Given the description of an element on the screen output the (x, y) to click on. 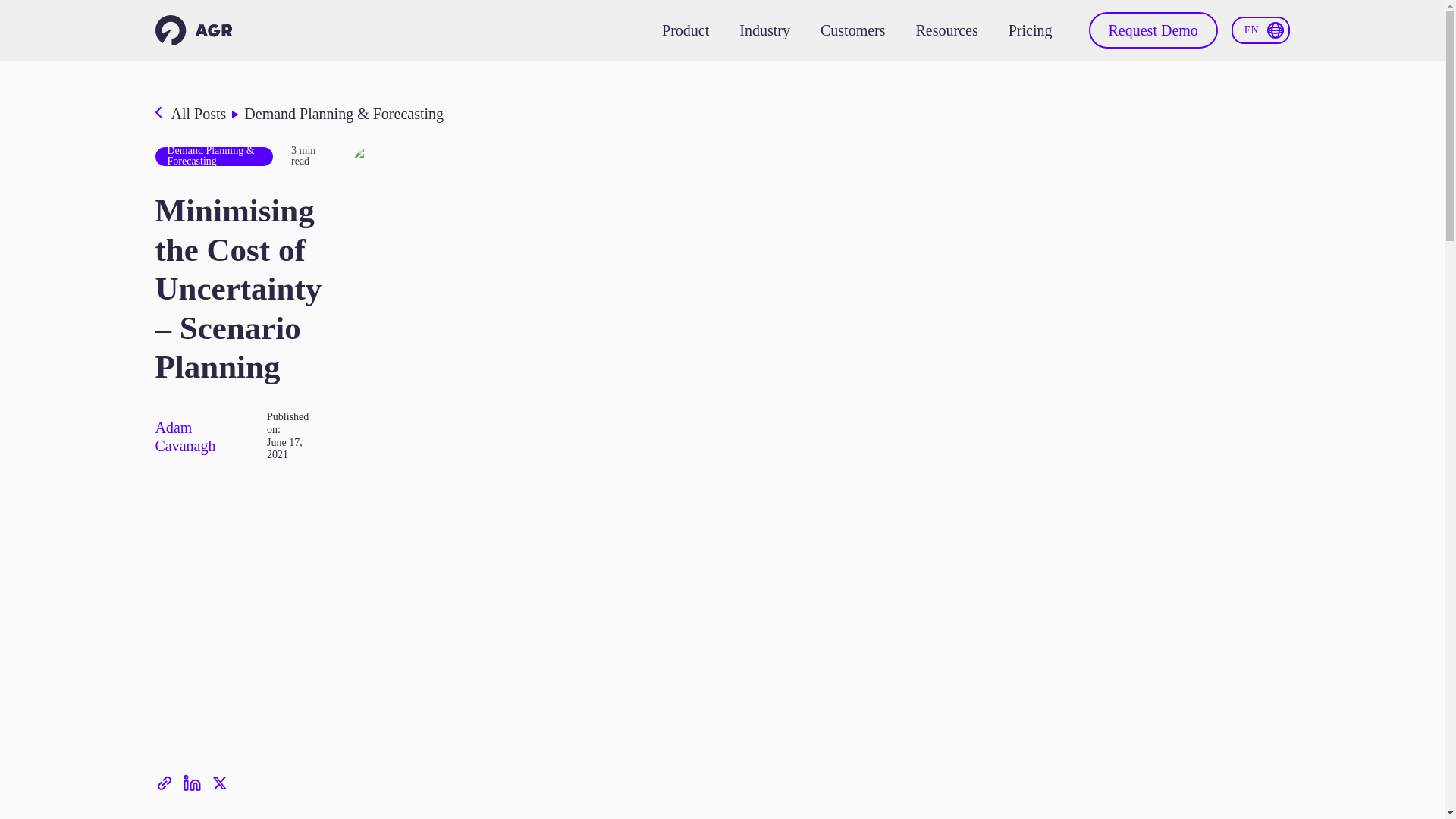
Pricing (1030, 30)
Industry (764, 30)
Resources (946, 30)
All Posts (199, 113)
EN (1260, 30)
Customers (853, 30)
Product (685, 30)
Request Demo (1153, 30)
